Given the description of an element on the screen output the (x, y) to click on. 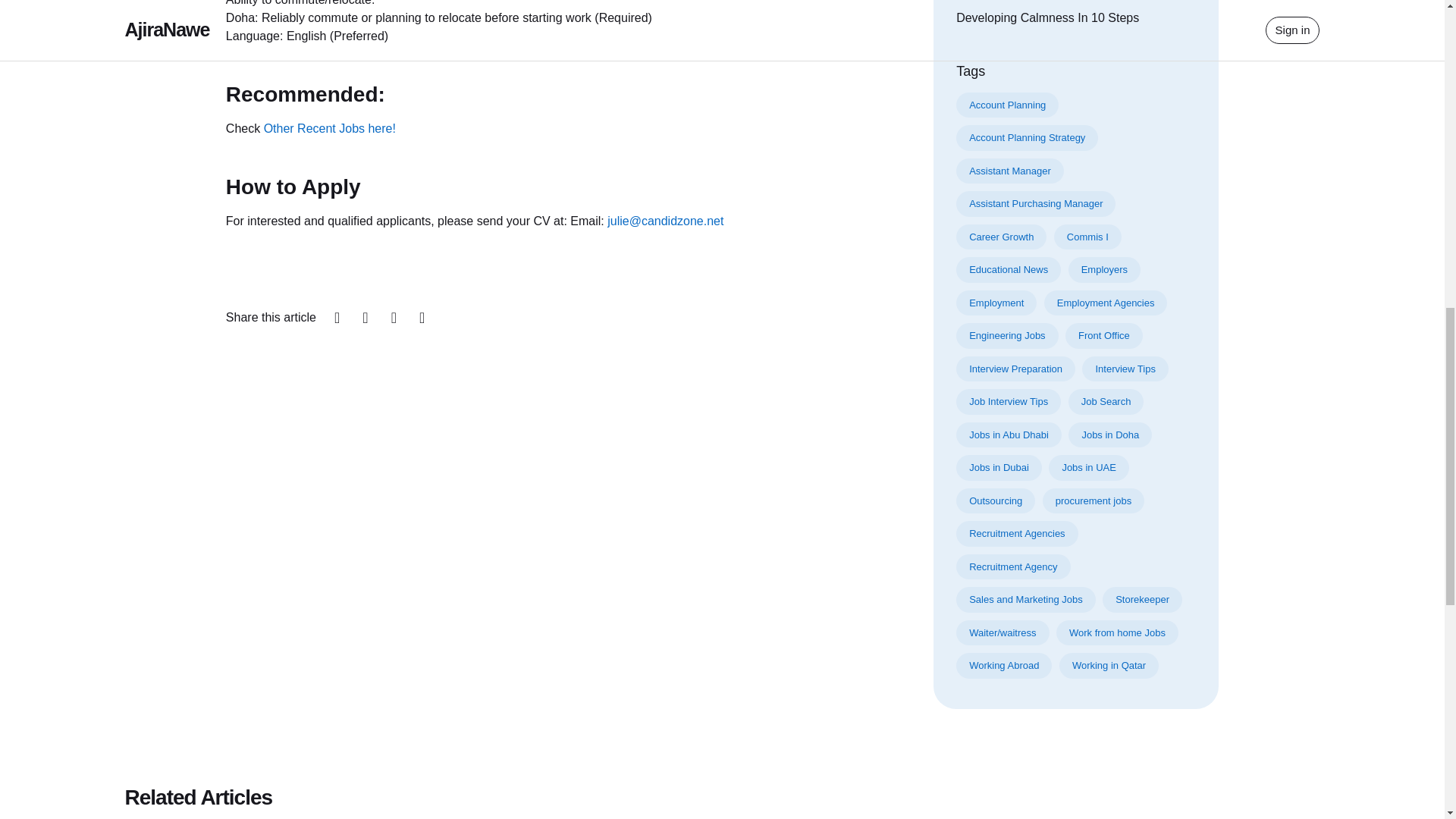
Other Recent Jobs here! (329, 128)
